Given the description of an element on the screen output the (x, y) to click on. 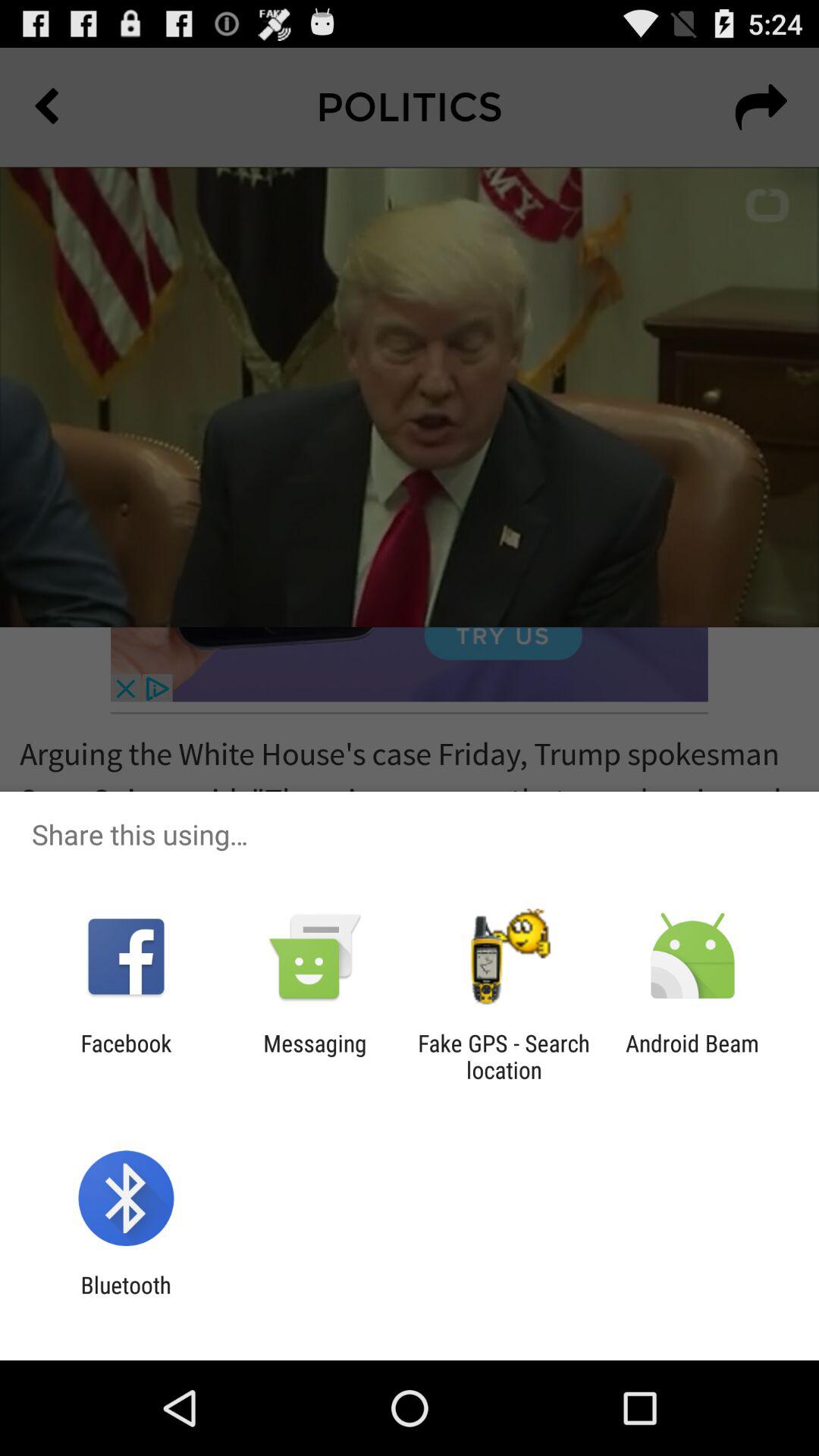
open the messaging icon (314, 1056)
